Given the description of an element on the screen output the (x, y) to click on. 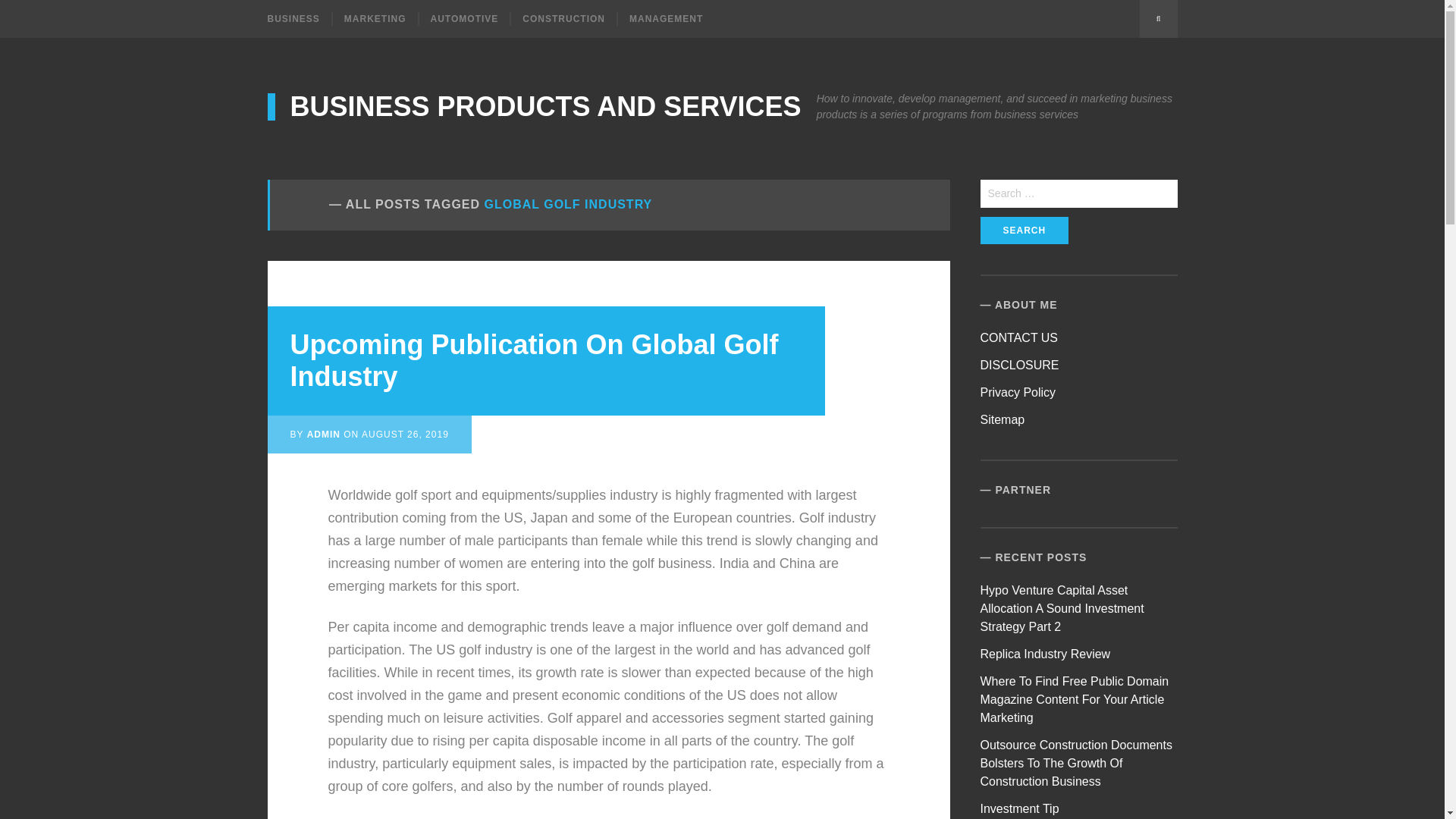
Privacy Policy (1018, 391)
Replica Industry Review (1044, 653)
Search (1023, 230)
Search (1023, 230)
CONSTRUCTION (562, 18)
Search (1157, 18)
Investment Tip (1019, 808)
AUTOMOTIVE (464, 18)
Sitemap (1002, 419)
BUSINESS PRODUCTS AND SERVICES (533, 106)
Upcoming Publication On Global Golf Industry (533, 360)
MARKETING (374, 18)
DISCLOSURE (1019, 364)
